Given the description of an element on the screen output the (x, y) to click on. 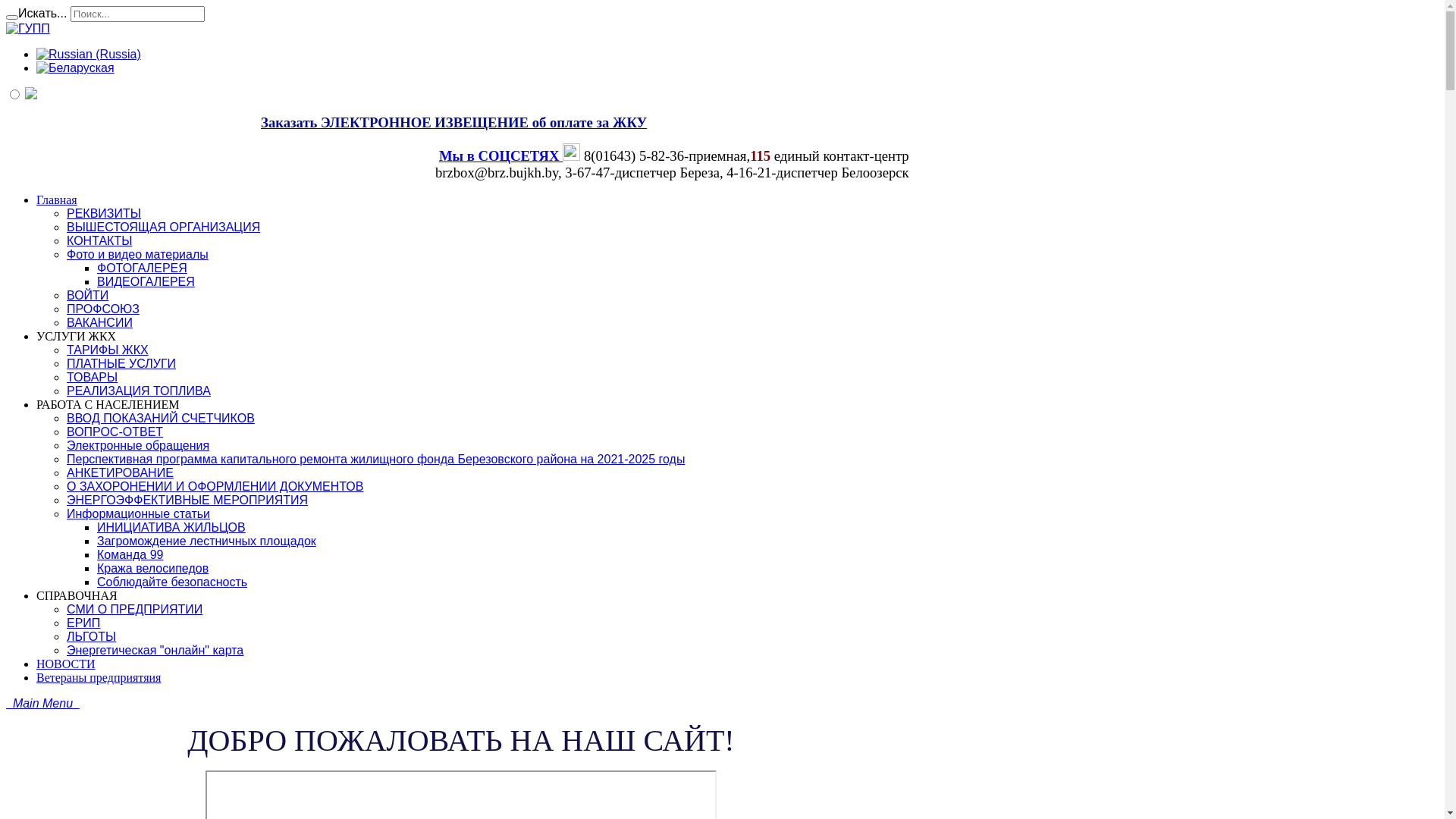
  Main Menu   Element type: text (42, 702)
Russian (Russia) Element type: hover (88, 54)
